Given the description of an element on the screen output the (x, y) to click on. 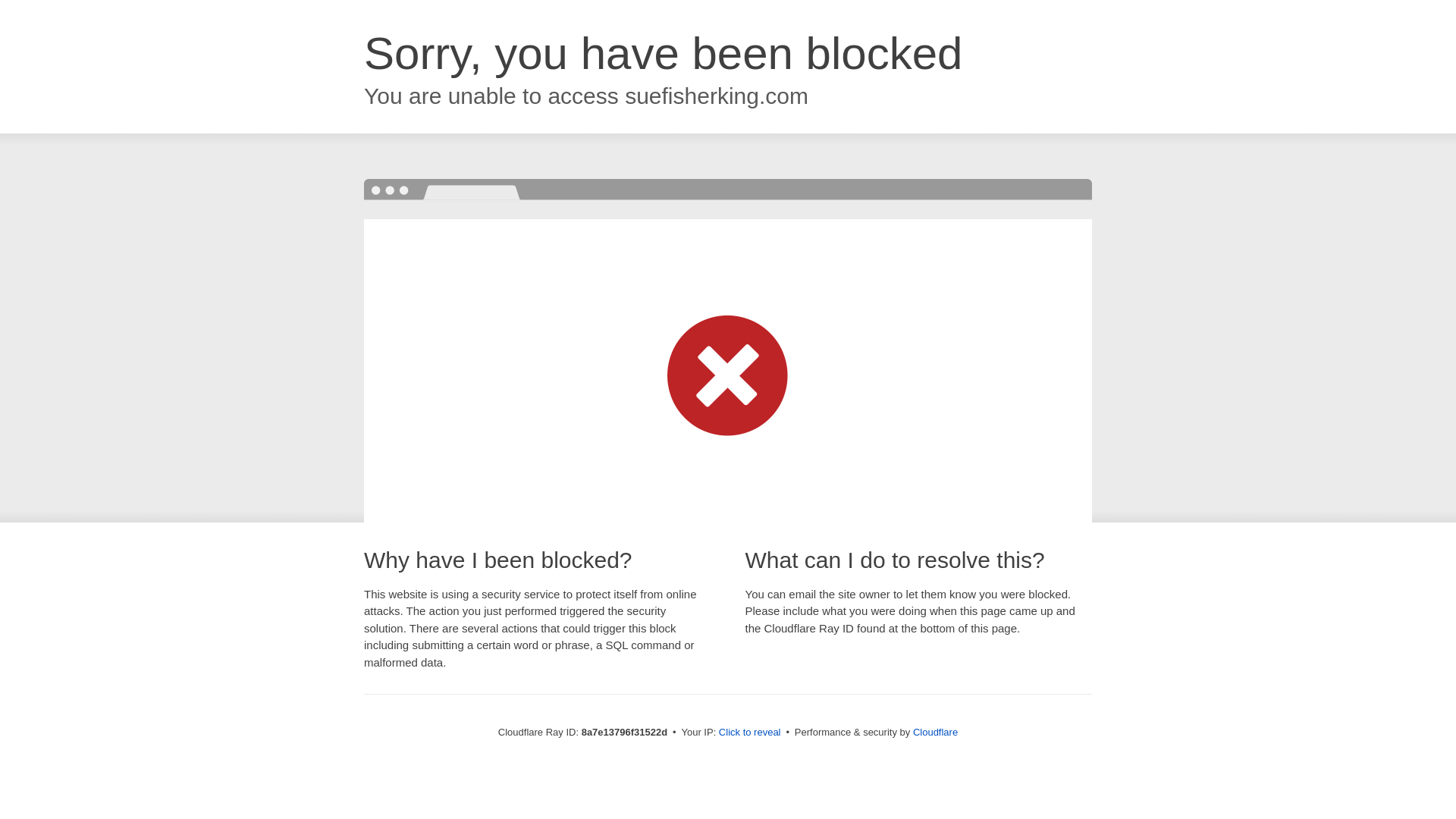
Cloudflare (935, 731)
Click to reveal (749, 732)
